Given the description of an element on the screen output the (x, y) to click on. 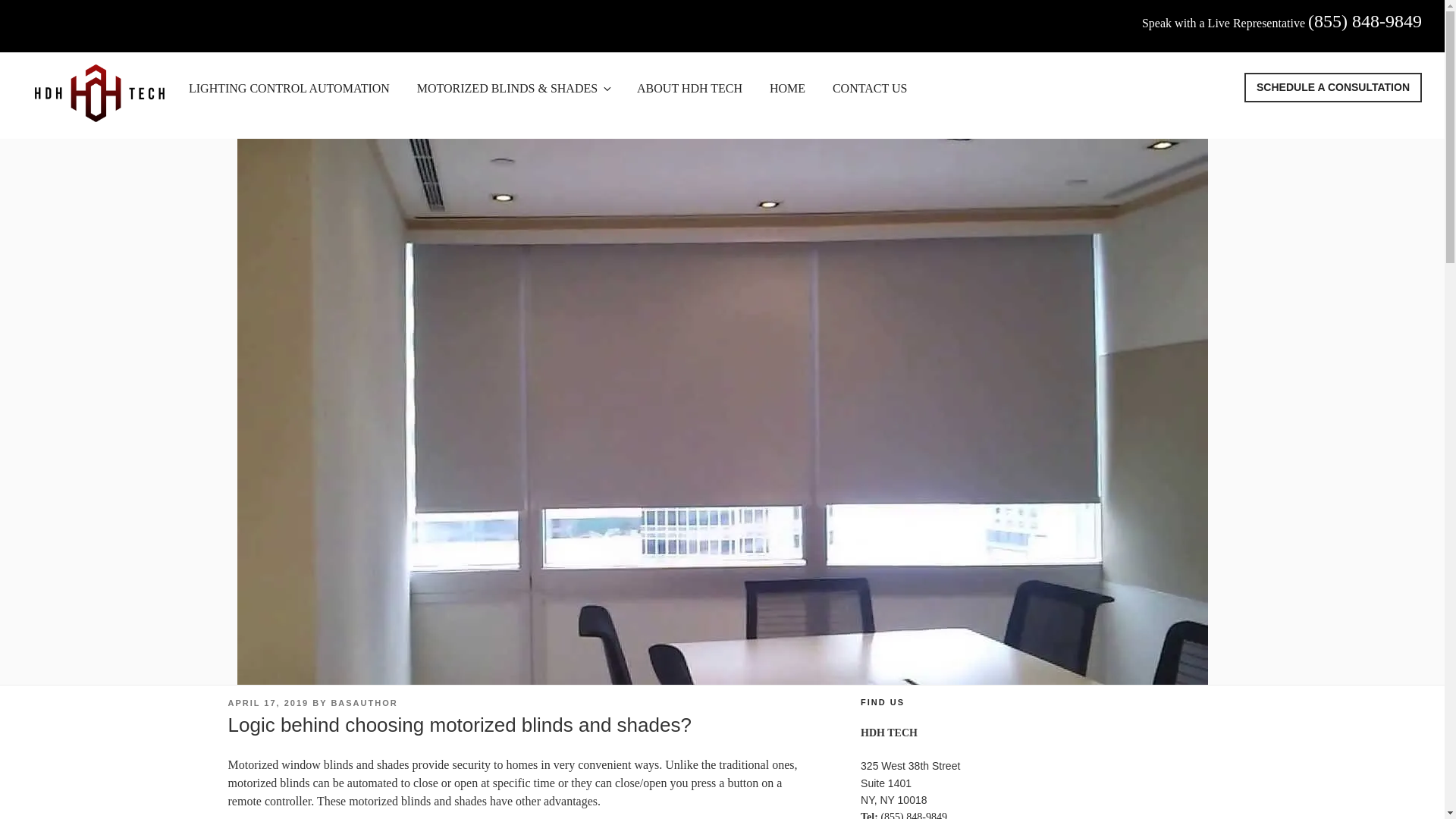
ABOUT HDH TECH (689, 88)
HOME (786, 88)
LIGHTING CONTROL AUTOMATION (288, 88)
APRIL 17, 2019 (267, 702)
SCHEDULE A CONSULTATION (1333, 87)
CONTACT US (869, 88)
BASAUTHOR (363, 702)
